Given the description of an element on the screen output the (x, y) to click on. 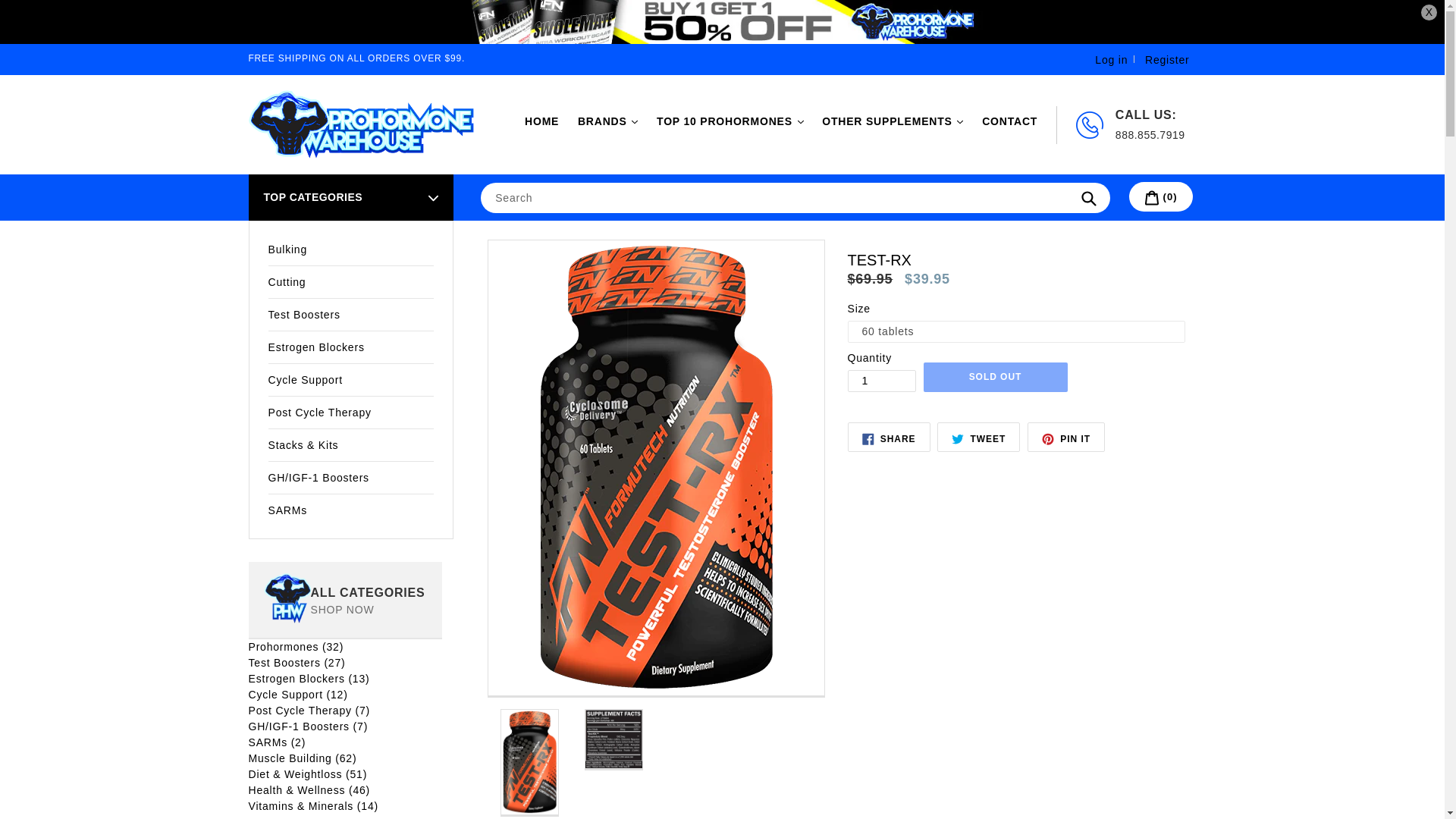
Tweet on Twitter (978, 437)
Register (1167, 59)
1 (881, 381)
Pin on Pinterest (1066, 437)
888.855.7919 (1150, 134)
Share on Facebook (888, 437)
Log in (1110, 59)
